Given the description of an element on the screen output the (x, y) to click on. 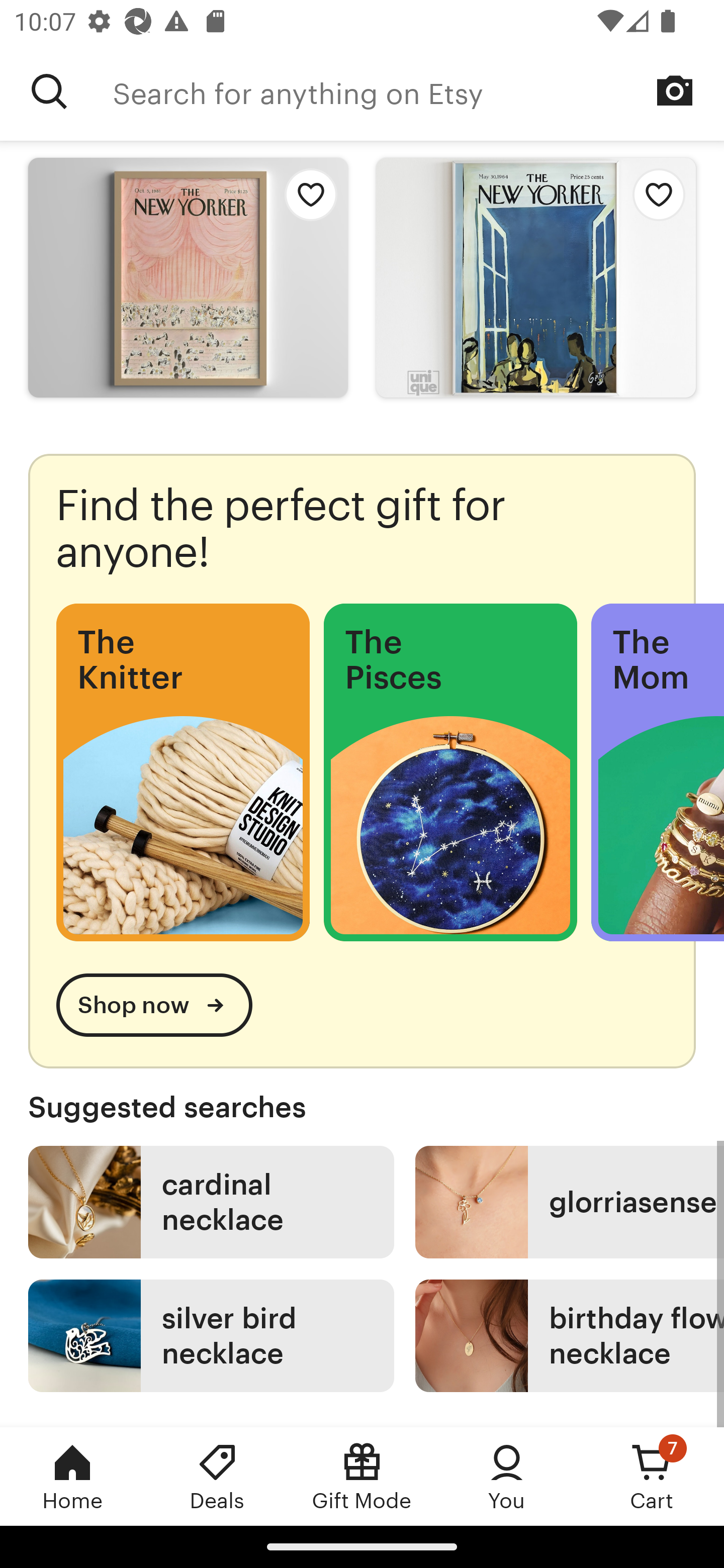
Search for anything on Etsy (49, 91)
Search by image (674, 90)
Search for anything on Etsy (418, 91)
Find the perfect gift for anyone! Shop now (361, 760)
The Knitter (182, 771)
The Pisces (450, 771)
Shop now (154, 1004)
Suggested searches (362, 1106)
cardinal necklace (210, 1202)
glorriasense (569, 1202)
silver bird necklace (210, 1335)
birthday flower necklace (569, 1335)
Deals (216, 1475)
Gift Mode (361, 1475)
You (506, 1475)
Cart, 7 new notifications Cart (651, 1475)
